Given the description of an element on the screen output the (x, y) to click on. 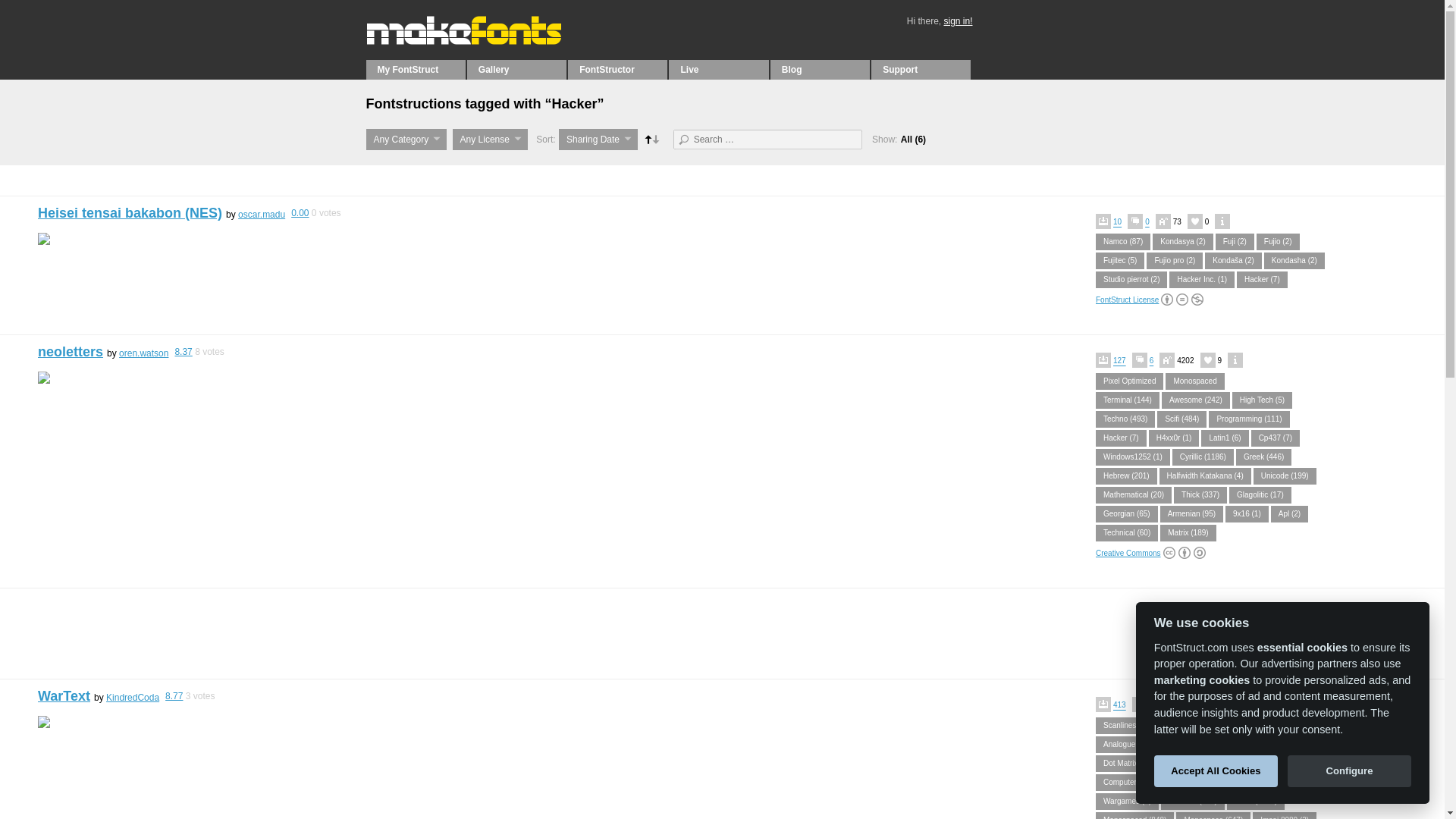
sign in! (957, 20)
FontStruct (467, 41)
Support (920, 69)
FontStructor (616, 69)
Gallery (516, 69)
My FontStruct (414, 69)
Blog (819, 69)
Live (718, 69)
